Given the description of an element on the screen output the (x, y) to click on. 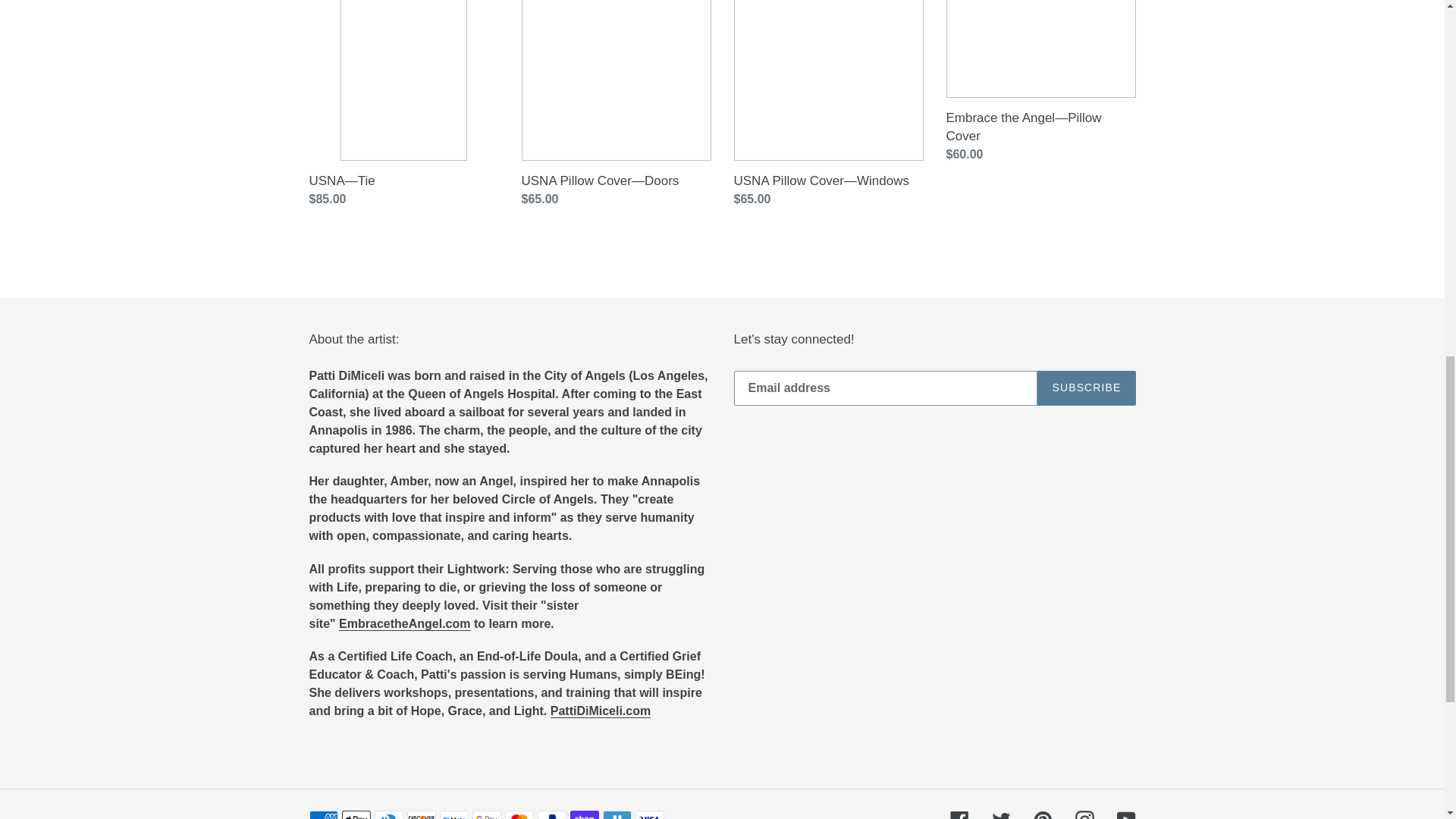
PattiDiMiceli.com (600, 711)
EmbracetheAngel.com (404, 623)
